Given the description of an element on the screen output the (x, y) to click on. 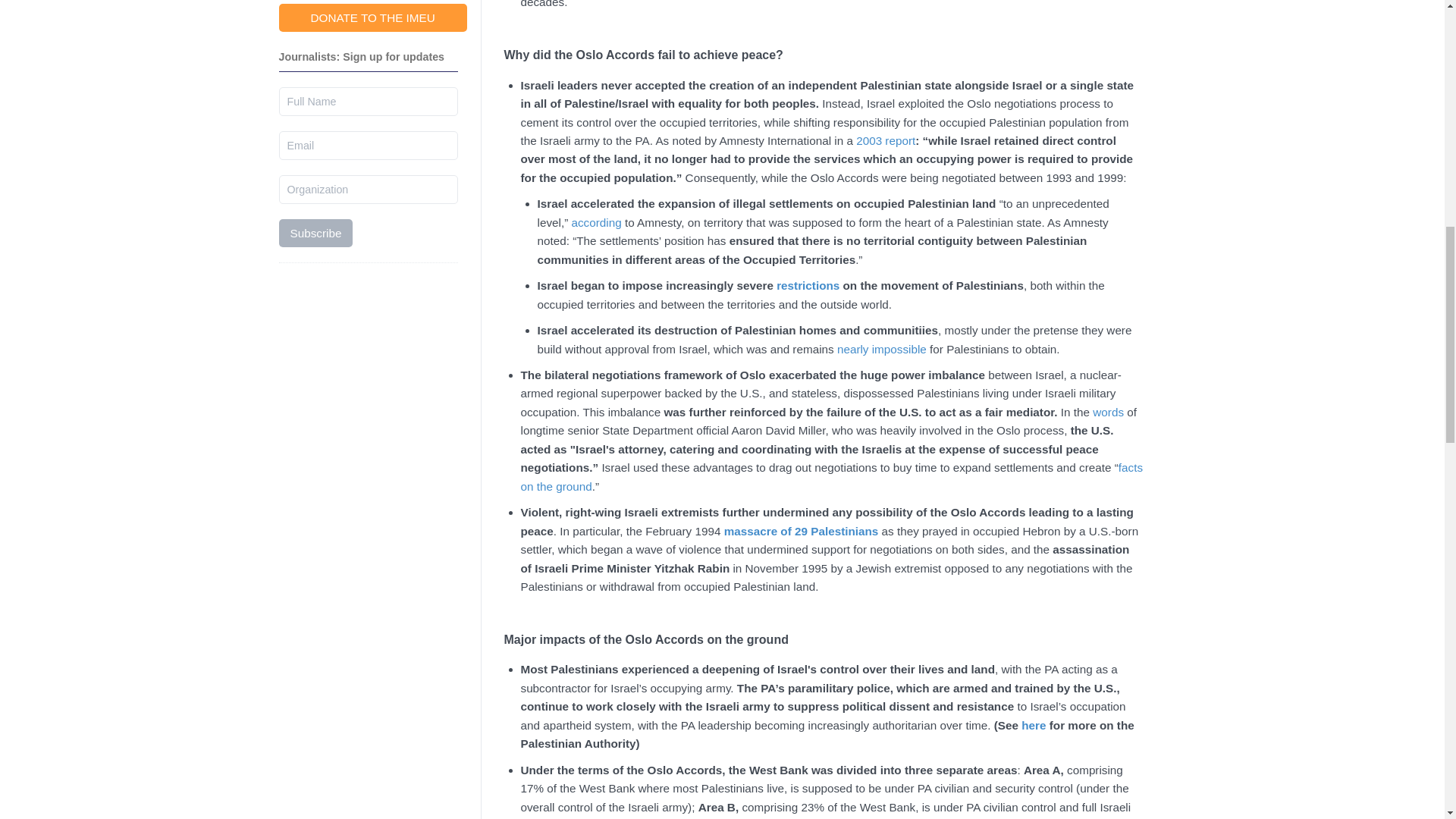
Organization name must have a minimum of three characters. (368, 189)
